Given the description of an element on the screen output the (x, y) to click on. 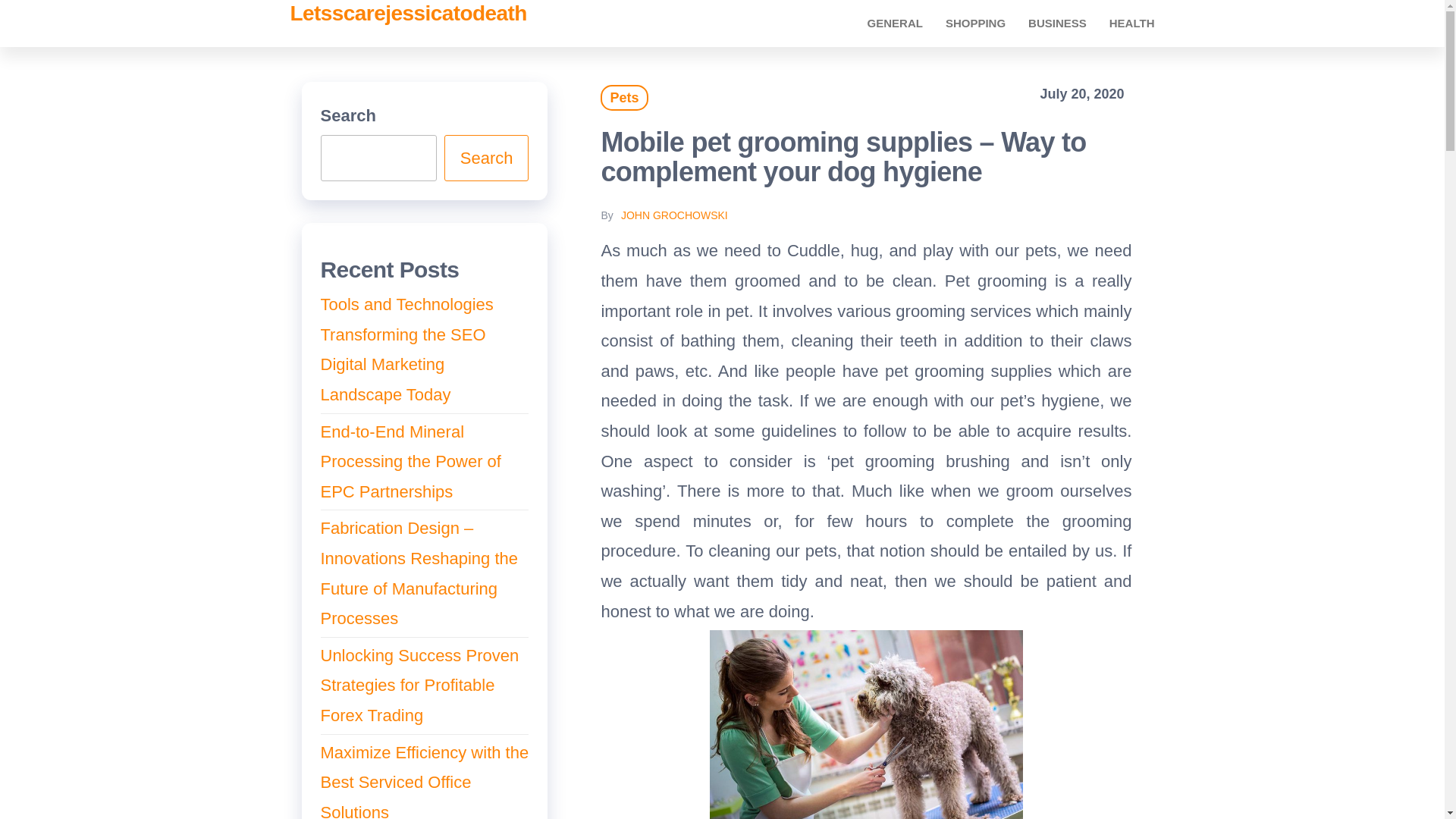
JOHN GROCHOWSKI (674, 215)
GENERAL (895, 22)
Shopping (975, 22)
HEALTH (1131, 22)
End-to-End Mineral Processing the Power of EPC Partnerships (410, 461)
Health (1131, 22)
General (895, 22)
SHOPPING (975, 22)
Letsscarejessicatodeath (407, 13)
